Given the description of an element on the screen output the (x, y) to click on. 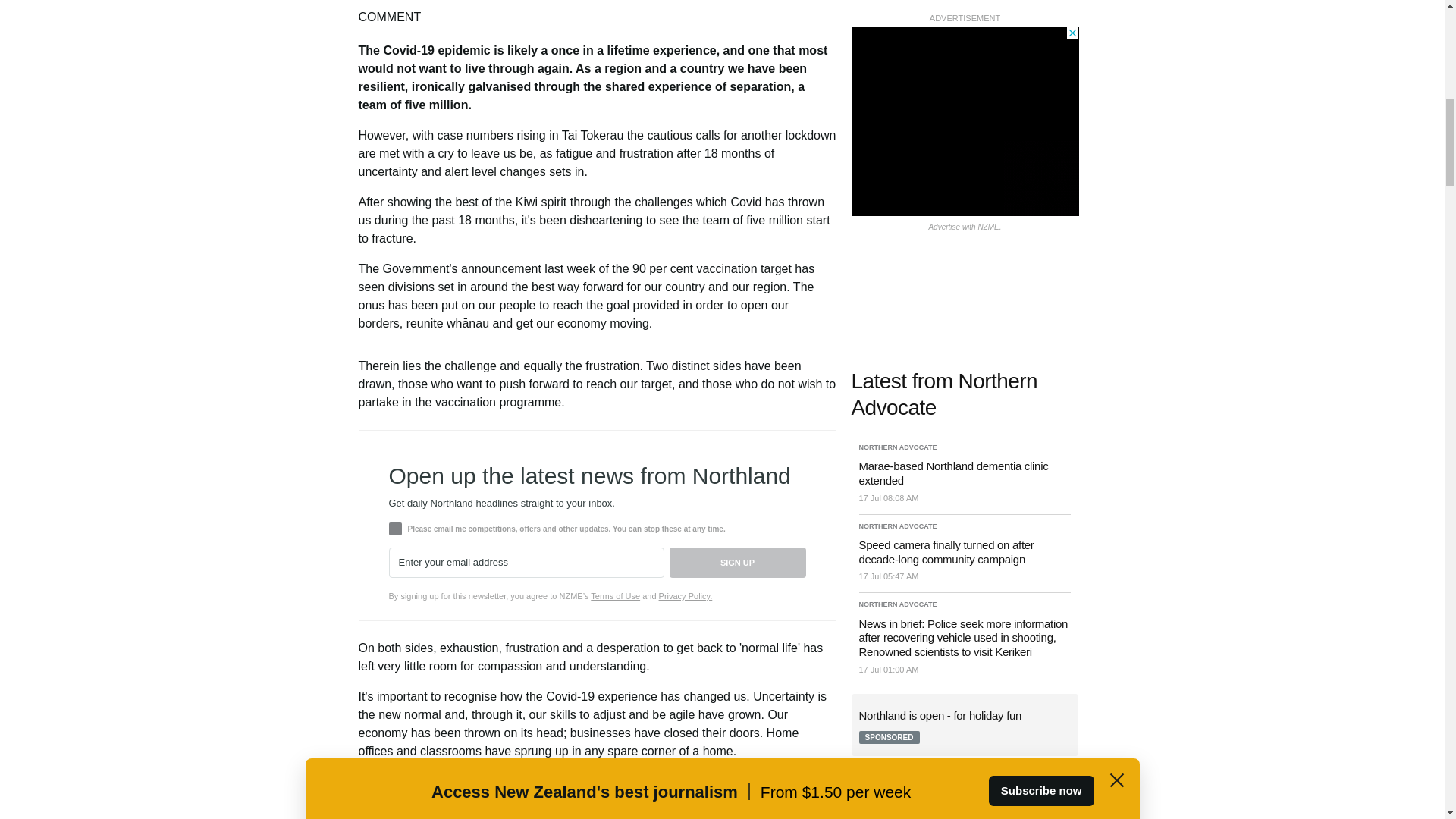
3rd party ad content (964, 804)
